Given the description of an element on the screen output the (x, y) to click on. 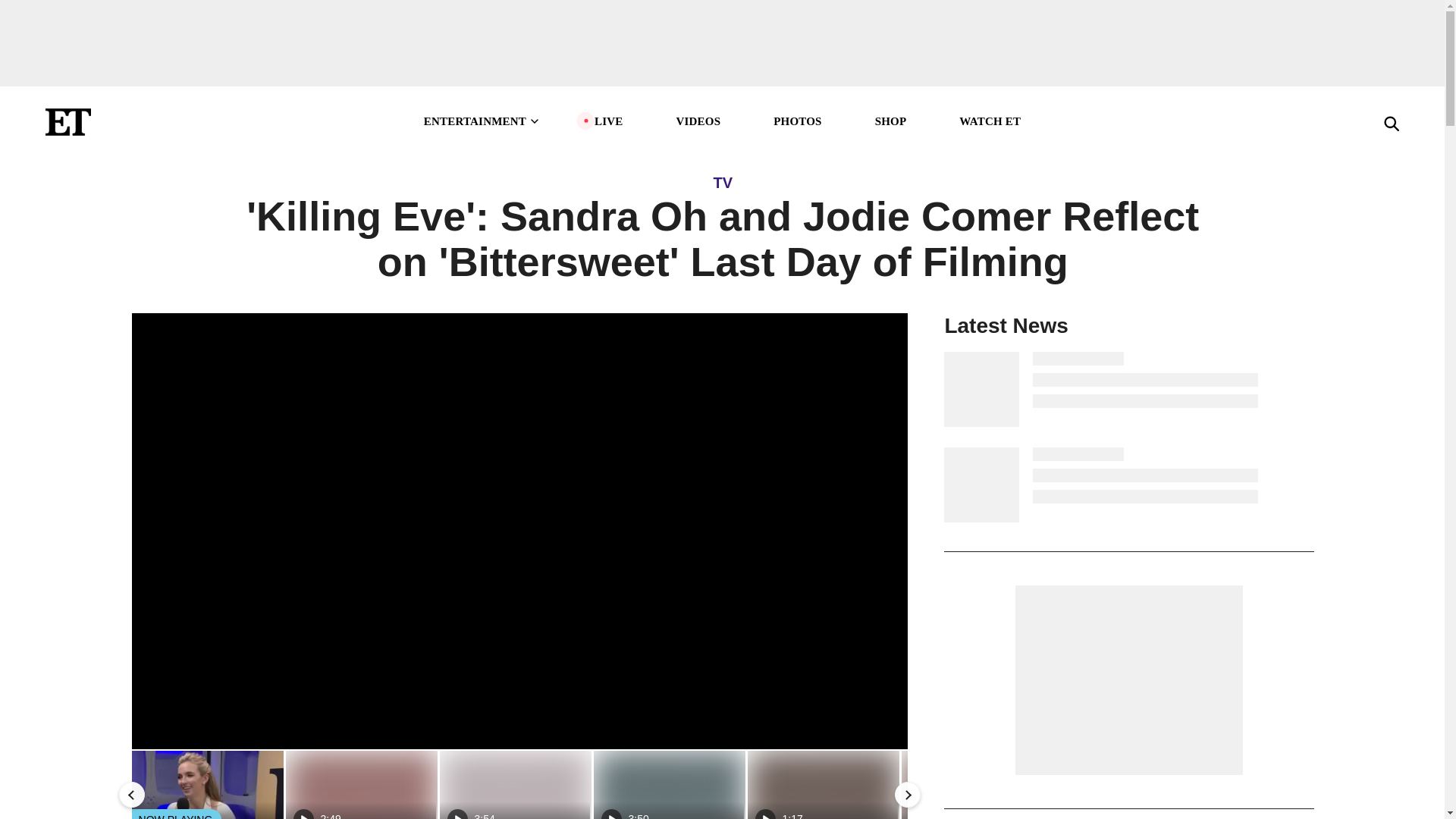
SHOP (891, 120)
ENTERTAINMENT (482, 120)
LIVE (608, 120)
WATCH ET (989, 120)
VIDEOS (668, 785)
PHOTOS (697, 120)
TV (797, 120)
